Given the description of an element on the screen output the (x, y) to click on. 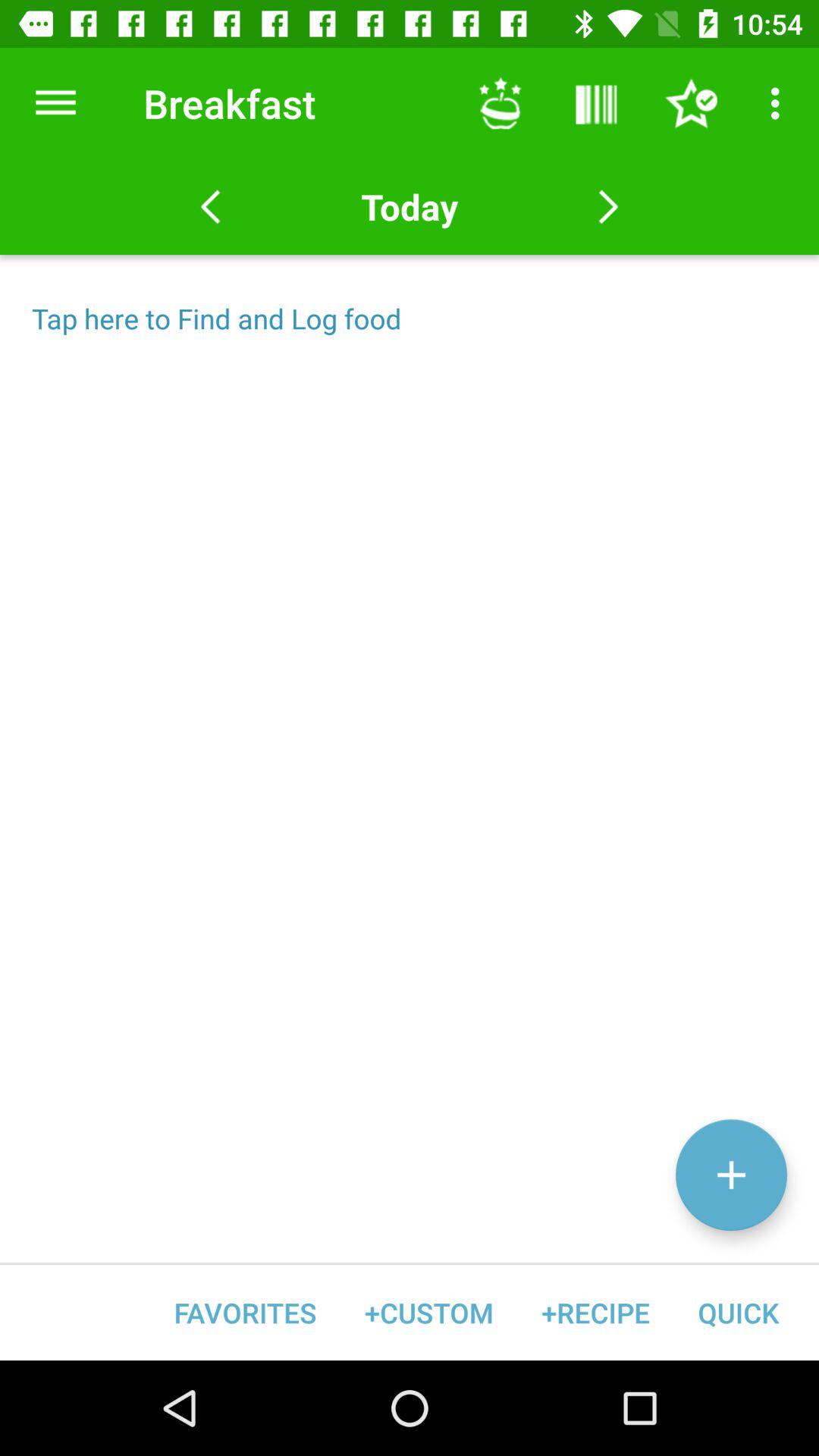
move forward one day (608, 206)
